Given the description of an element on the screen output the (x, y) to click on. 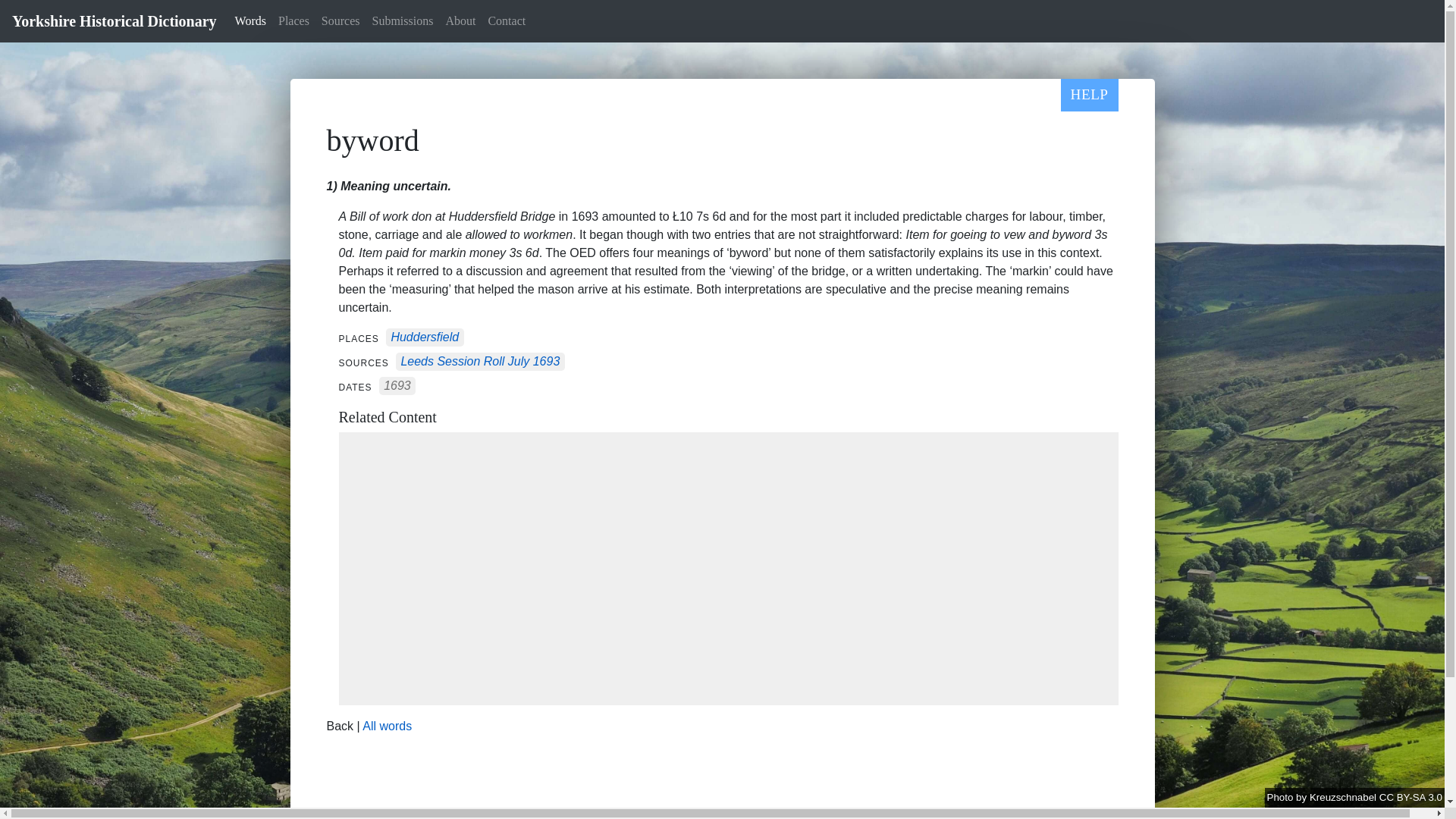
Yorkshire Historical Dictionary (113, 20)
Photo (1281, 797)
CC BY-SA 3.0 (1410, 797)
HELP (1089, 94)
Leeds Session Roll July 1693 (479, 361)
Sources (340, 20)
Words (250, 20)
All words (387, 725)
Places (293, 20)
Back (339, 725)
About (460, 20)
Contact (506, 20)
Huddersfield (424, 337)
Kreuzschnabel (1343, 797)
Submissions (402, 20)
